Given the description of an element on the screen output the (x, y) to click on. 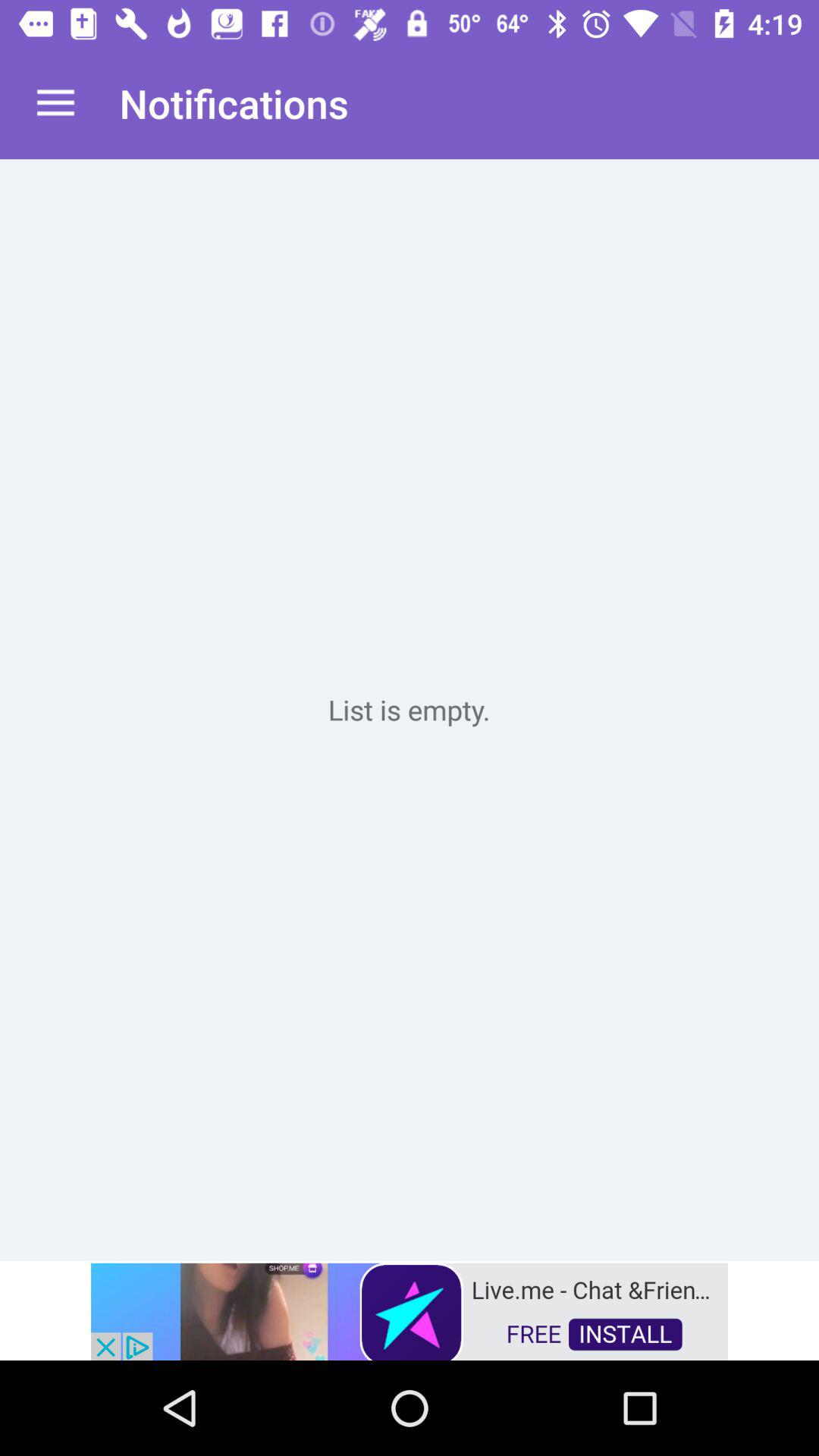
empty box (409, 709)
